Given the description of an element on the screen output the (x, y) to click on. 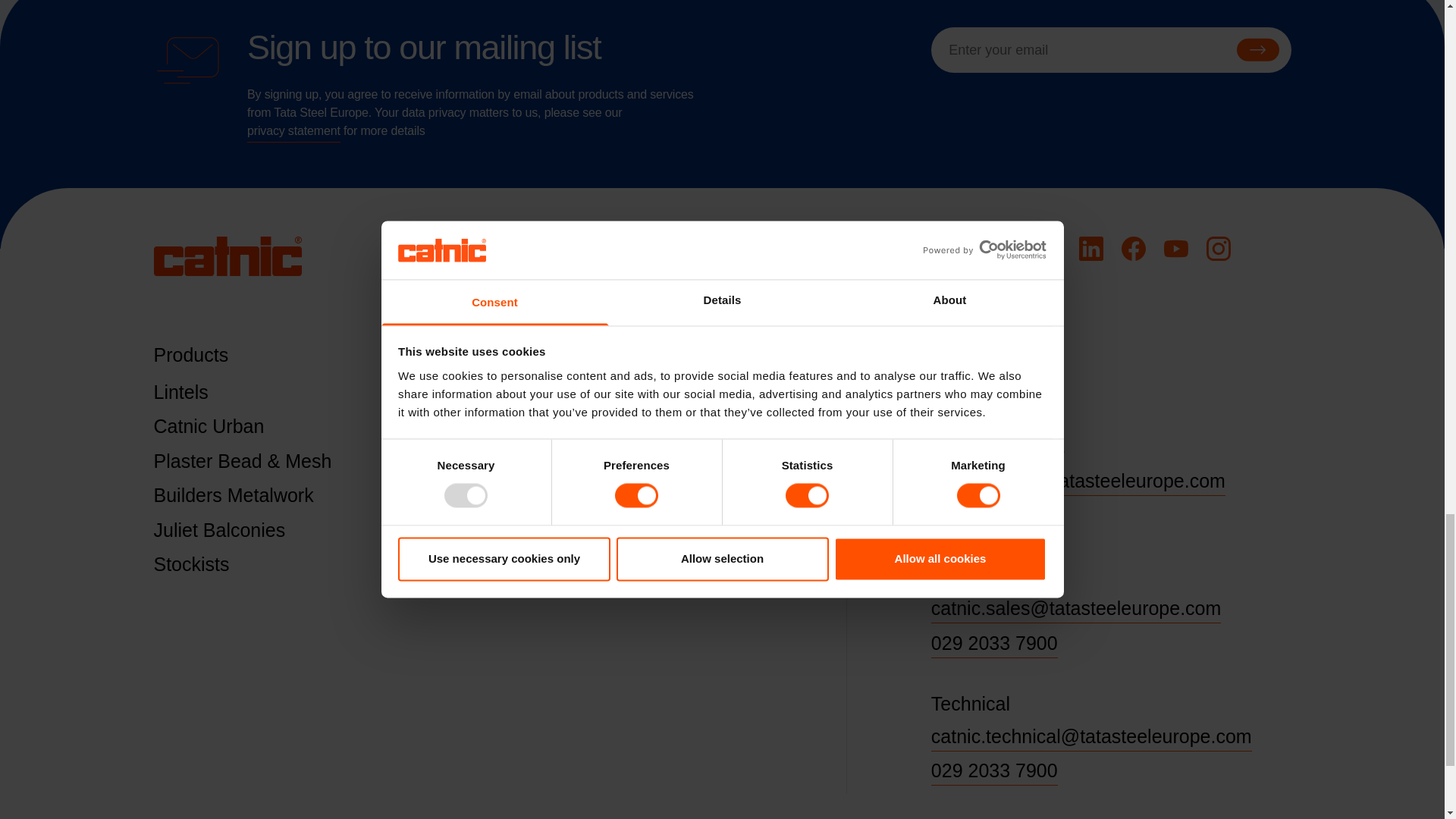
Instagram (1217, 248)
YouTube (1175, 248)
Facebook (1132, 248)
LinkedIn (1090, 248)
Twitter (1047, 248)
